Given the description of an element on the screen output the (x, y) to click on. 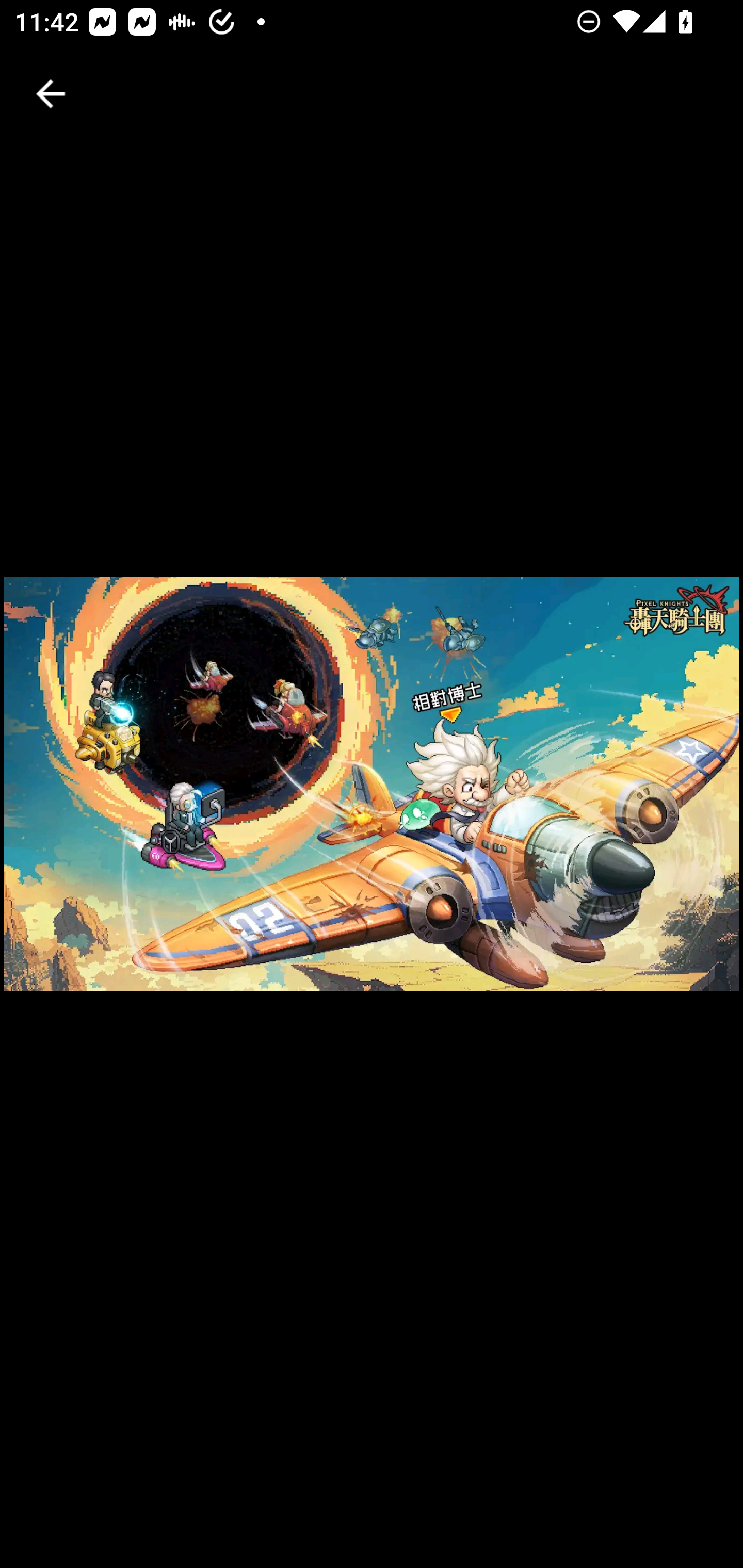
Back (50, 93)
